Given the description of an element on the screen output the (x, y) to click on. 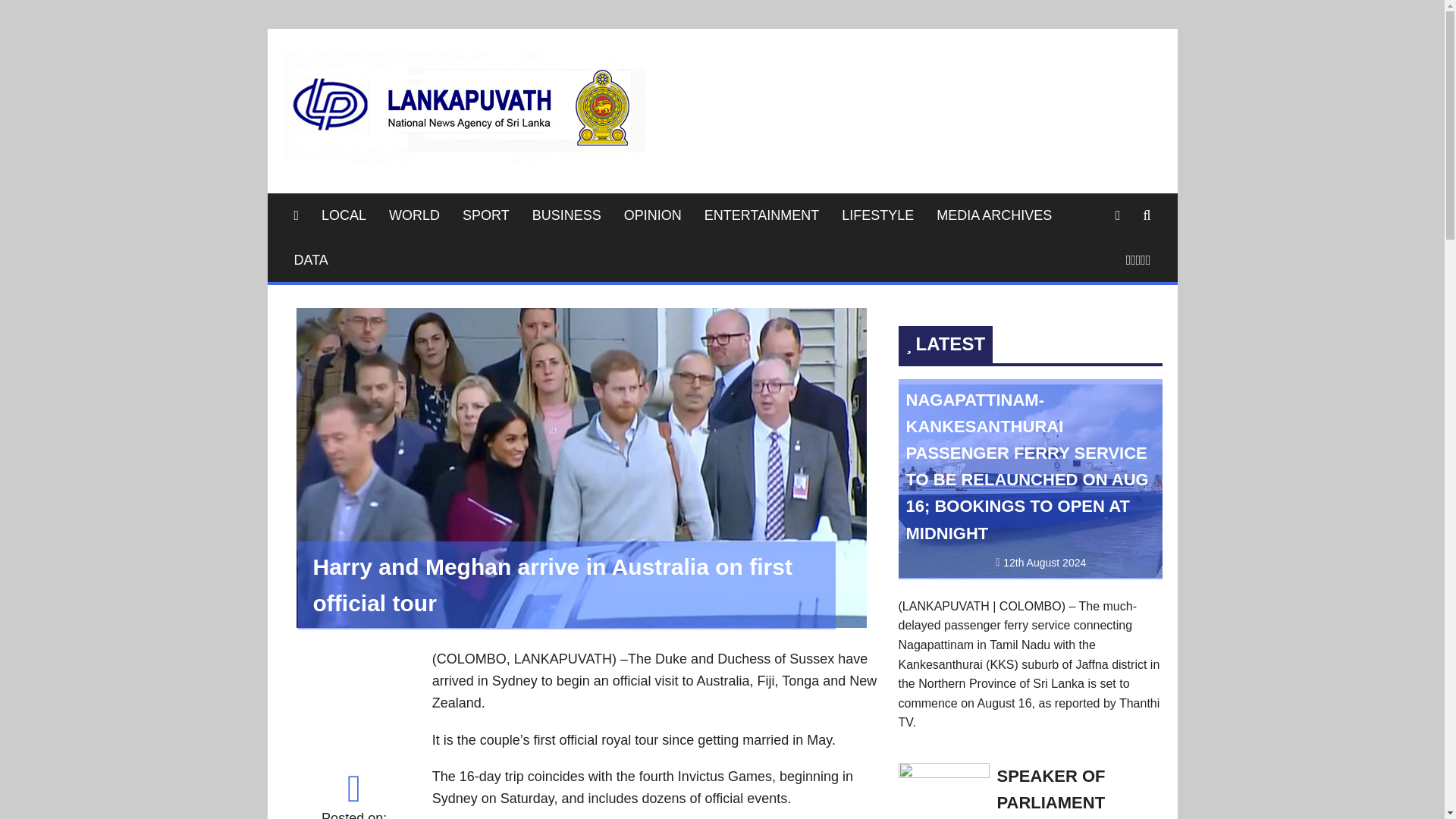
ENTERTAINMENT (761, 215)
Lanka Puvath (748, 72)
DATA (310, 260)
LOCAL (343, 215)
Harry and Meghan arrive in Australia on first official tour (581, 622)
WORLD (414, 215)
